Given the description of an element on the screen output the (x, y) to click on. 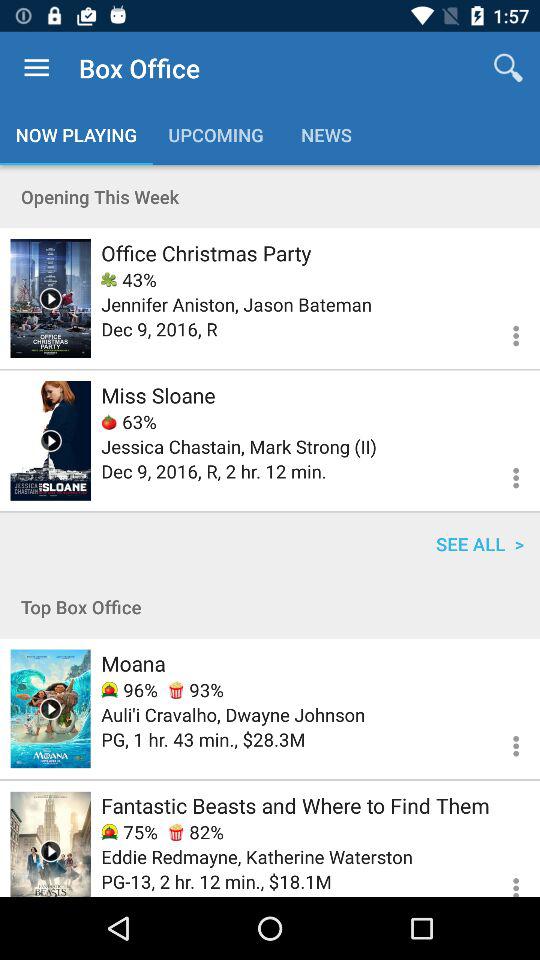
show options (503, 475)
